Given the description of an element on the screen output the (x, y) to click on. 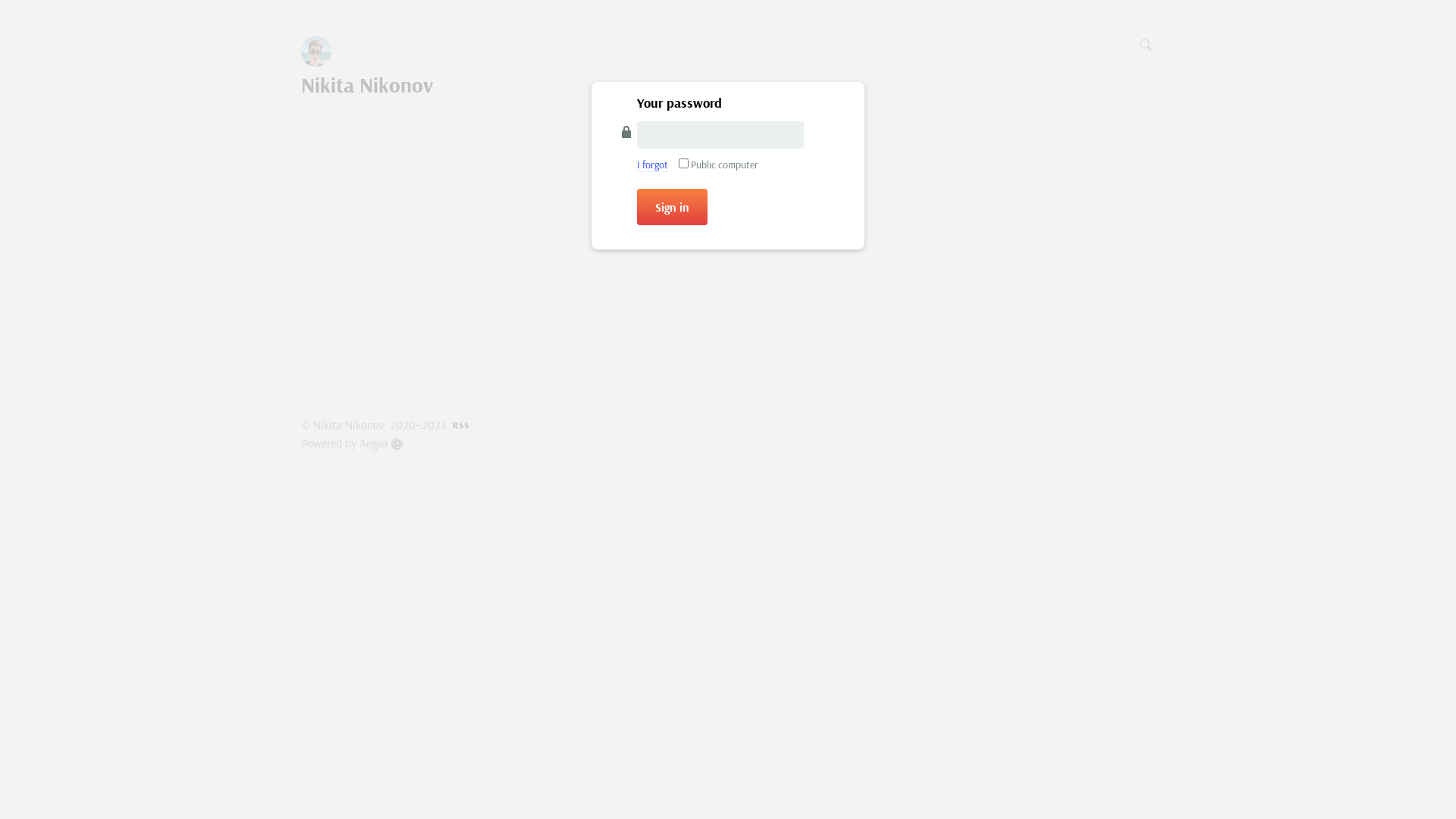
Sign in Element type: text (672, 206)
I forgot Element type: text (652, 164)
Nikita Nikonov Element type: text (367, 84)
RSS Element type: text (460, 425)
Aegea  Element type: text (381, 442)
